Given the description of an element on the screen output the (x, y) to click on. 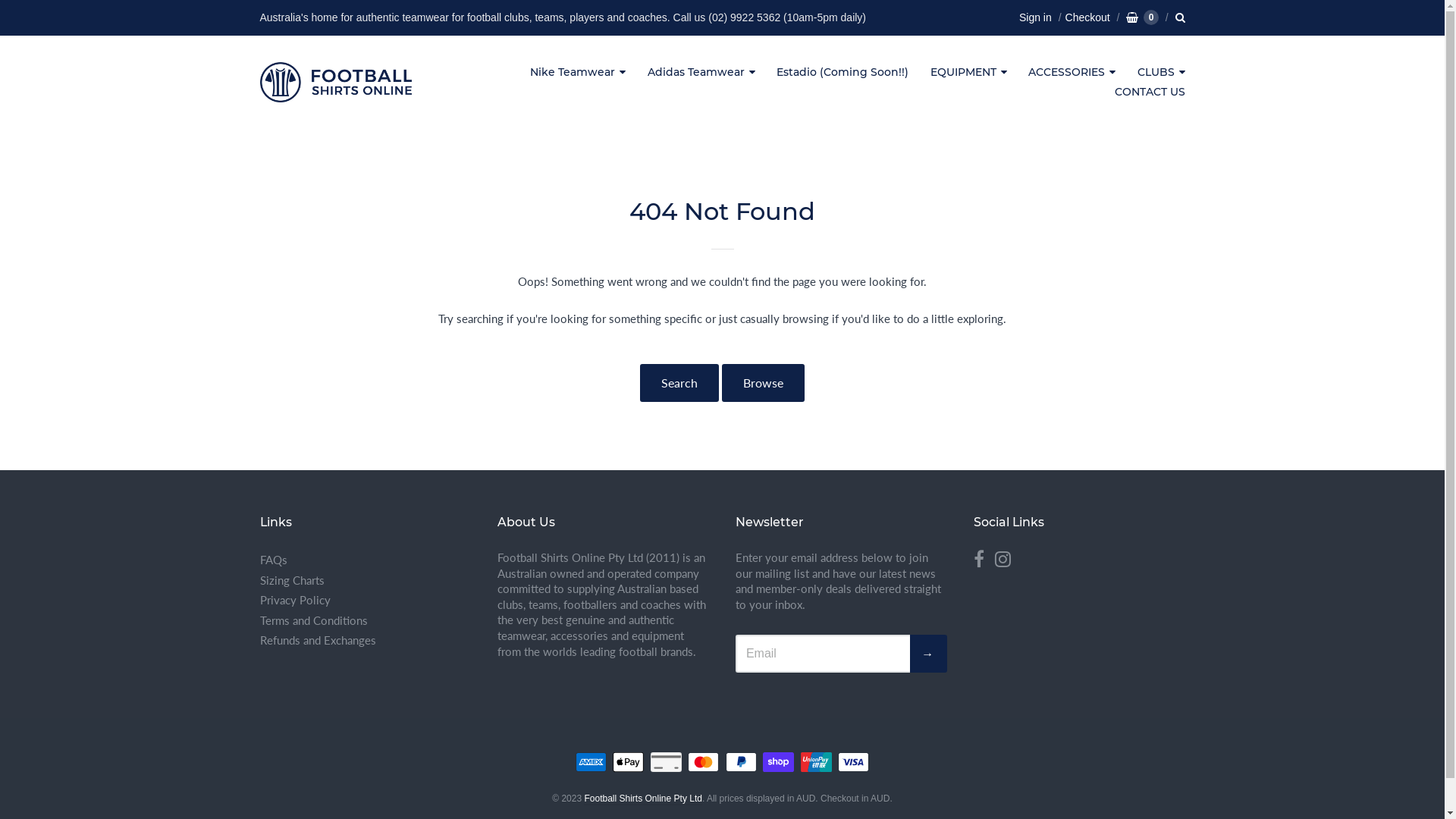
Browse Element type: text (762, 382)
Sign in Element type: text (1035, 17)
Adidas Teamwear Element type: text (701, 72)
Checkout Element type: text (1082, 17)
0 Element type: text (1141, 17)
Search Element type: text (679, 382)
Football Shirts Online Pty Ltd Element type: text (642, 799)
CONTACT US Element type: text (1149, 91)
Nike Teamwear Element type: text (577, 72)
Estadio (Coming Soon!!) Element type: text (842, 72)
ACCESSORIES Element type: text (1071, 72)
FAQs Element type: text (364, 559)
Refunds and Exchanges Element type: text (364, 640)
EQUIPMENT Element type: text (968, 72)
Sizing Charts Element type: text (364, 580)
Privacy Policy Element type: text (364, 599)
Terms and Conditions Element type: text (364, 620)
Football Shirts Online Pty Ltd Element type: hover (335, 82)
CLUBS Element type: text (1161, 72)
